Given the description of an element on the screen output the (x, y) to click on. 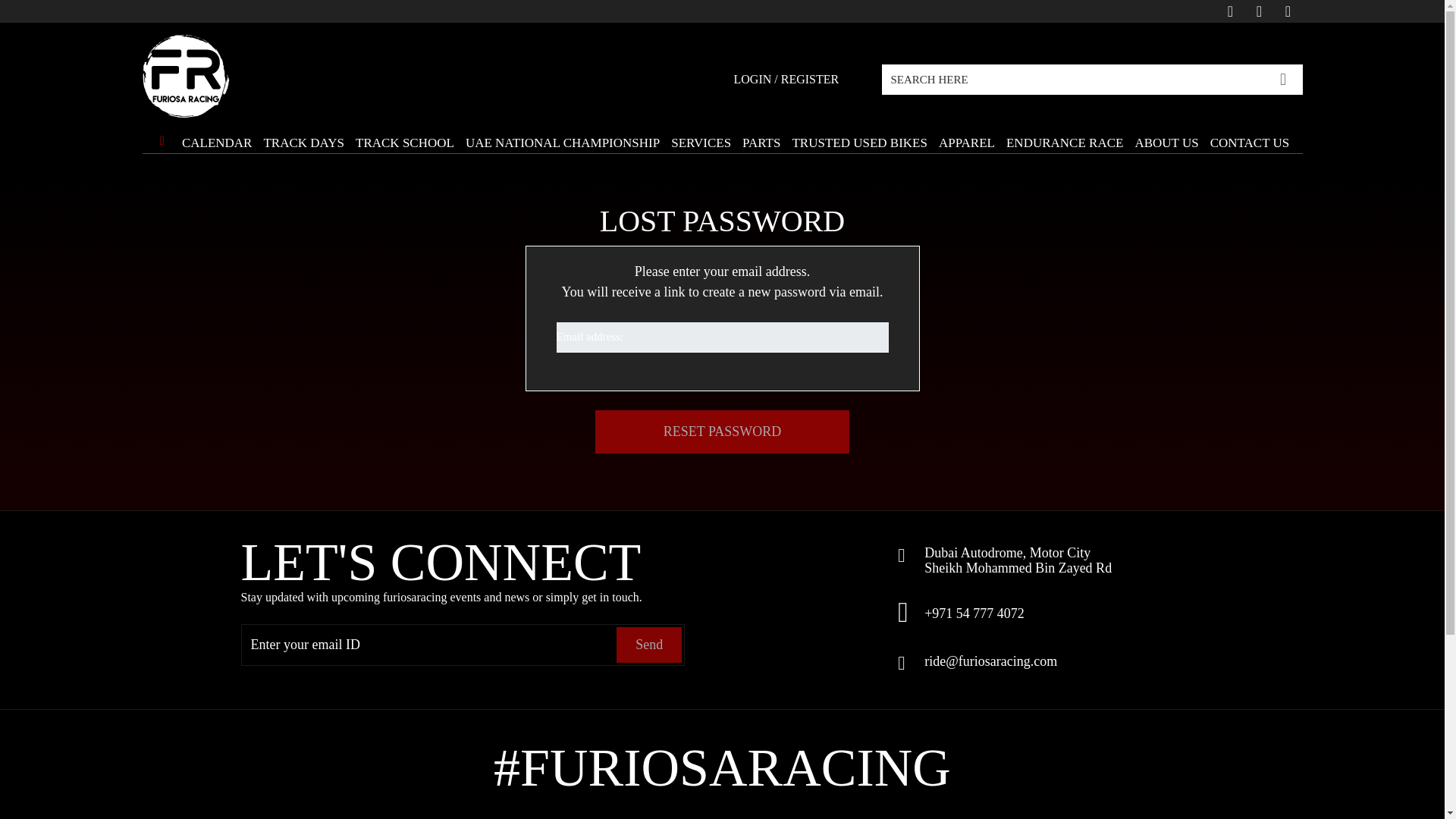
ABOUT US (1166, 135)
PARTS (761, 135)
TRUSTED USED BIKES (859, 135)
ENDURANCE RACE (1064, 135)
CALENDAR (216, 135)
UAE NATIONAL CHAMPIONSHIP (562, 135)
FR (186, 75)
Send (648, 643)
Submit Now (1283, 77)
CONTACT US (1249, 135)
HOME (161, 143)
TRACK DAYS (303, 135)
APPAREL (966, 135)
TRACK SCHOOL (404, 135)
SERVICES (700, 135)
